Given the description of an element on the screen output the (x, y) to click on. 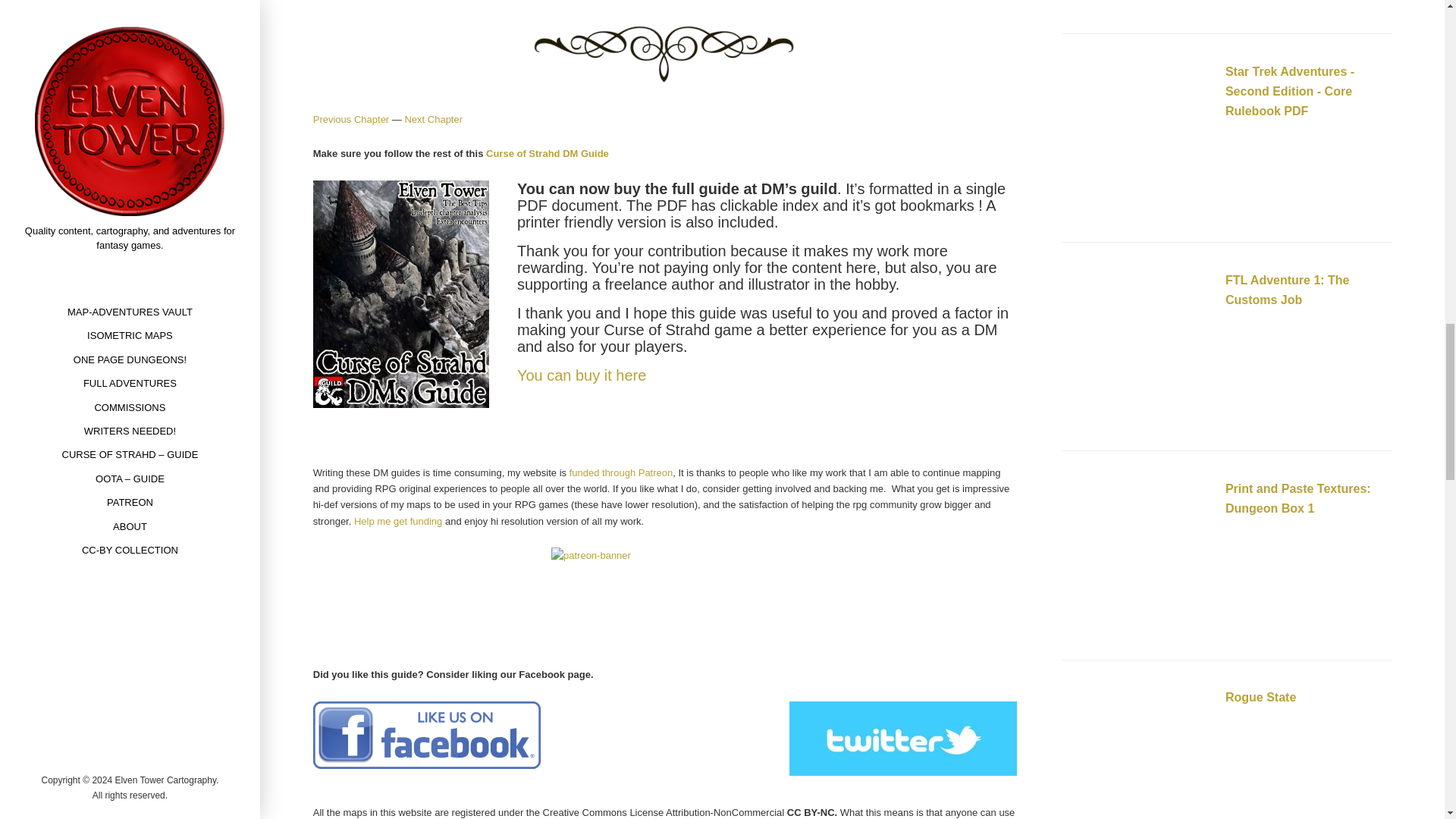
funded through Patreon (620, 472)
Help me get funding (397, 521)
Next Chapter (433, 119)
Previous Chapter (350, 119)
Curse of Strahd DM Guide (547, 153)
You can buy it here (581, 375)
FTL Adventure 1: The Customs Job (1136, 349)
Star Trek Adventures - Second Edition - Core Rulebook PDF (1136, 141)
